Given the description of an element on the screen output the (x, y) to click on. 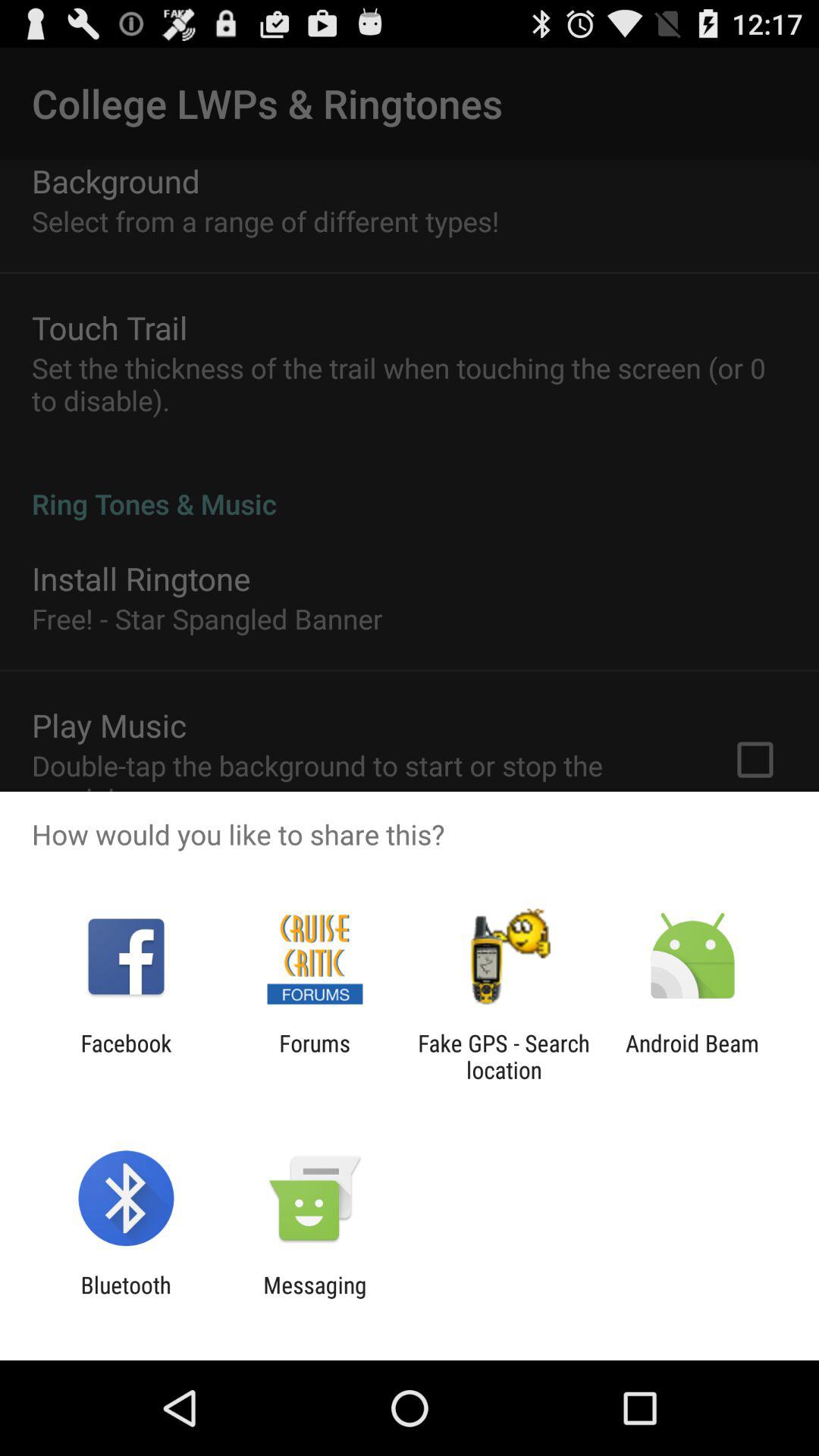
press the item next to android beam (503, 1056)
